Given the description of an element on the screen output the (x, y) to click on. 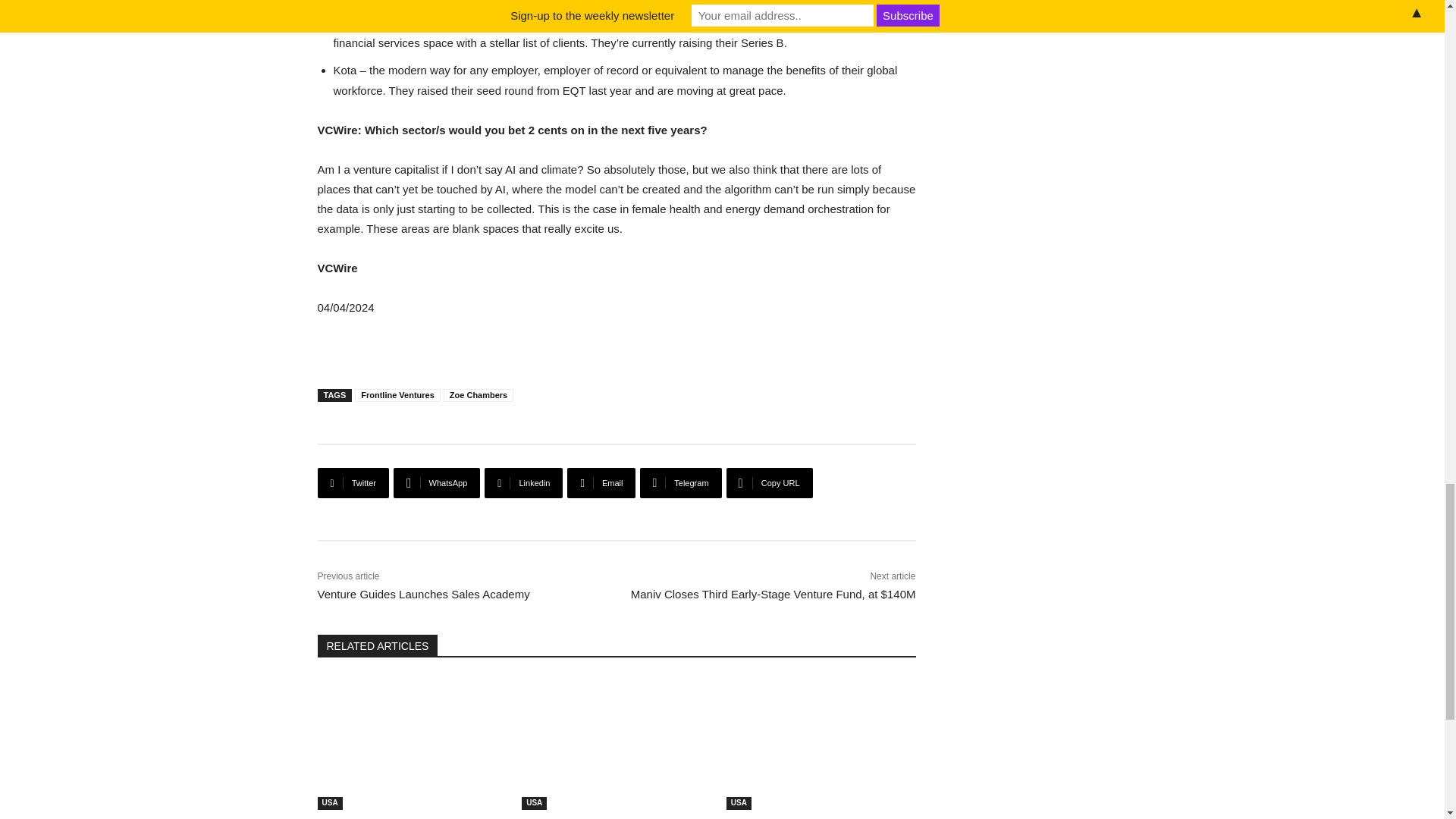
Email (600, 482)
Copy URL (769, 482)
Telegram (680, 482)
Zoe Chambers (478, 395)
Frontline Ventures (398, 395)
Copy URL (769, 482)
Venture Guides Launches Sales Academy (423, 594)
Twitter (352, 482)
WhatsApp (436, 482)
USA (329, 802)
